Given the description of an element on the screen output the (x, y) to click on. 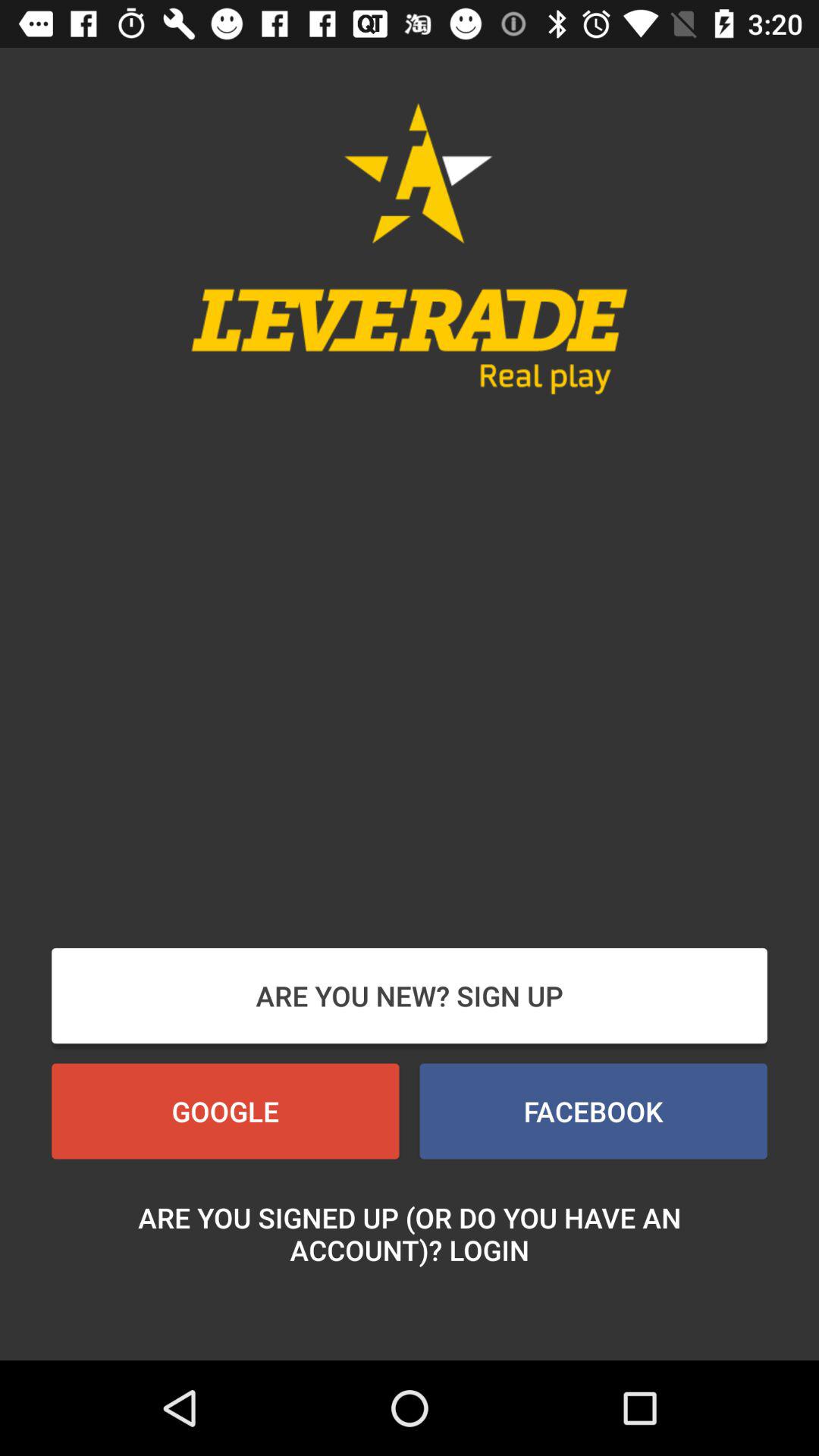
tap item to the right of the google icon (593, 1111)
